Given the description of an element on the screen output the (x, y) to click on. 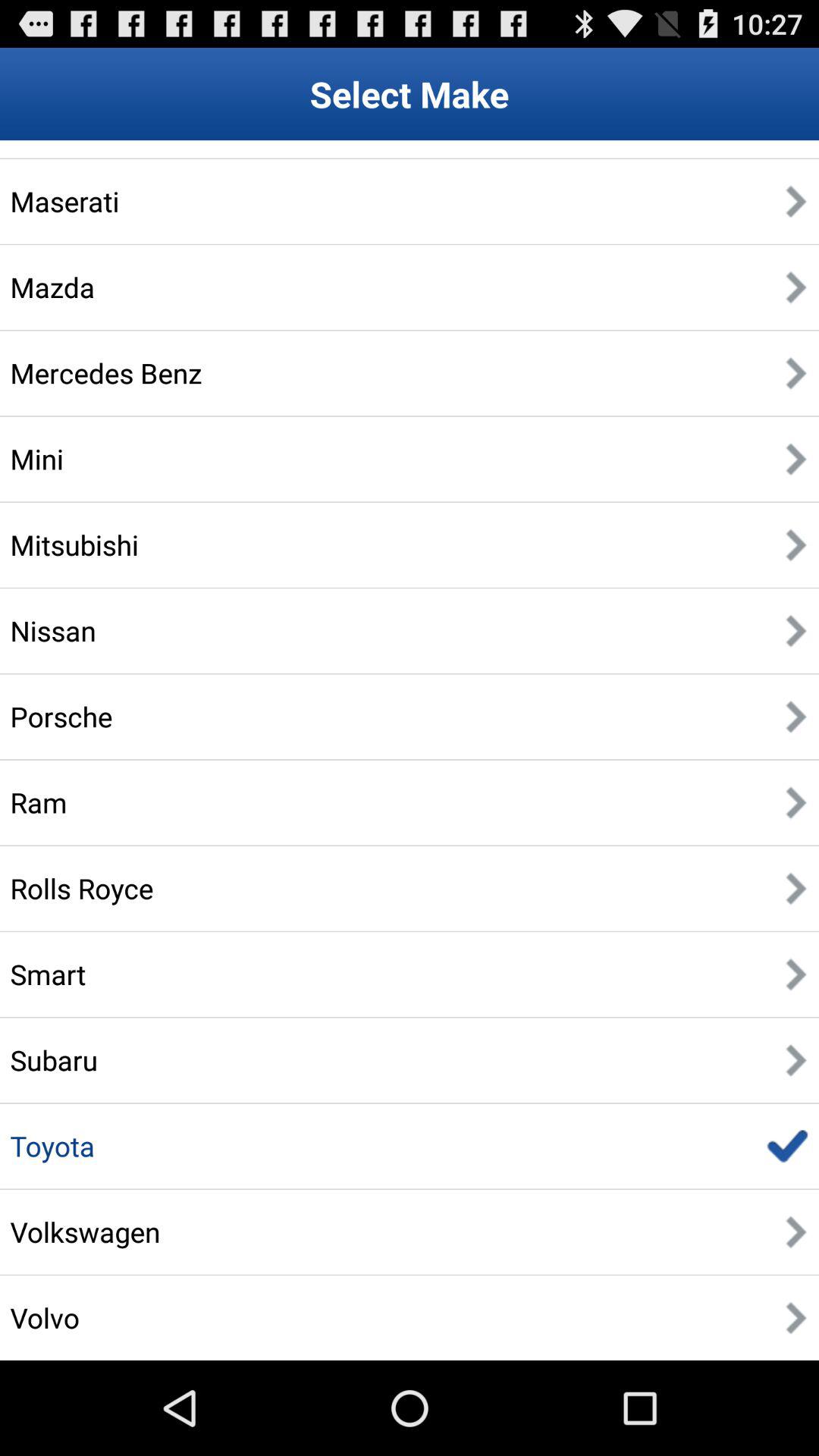
open app above volkswagen app (52, 1145)
